Given the description of an element on the screen output the (x, y) to click on. 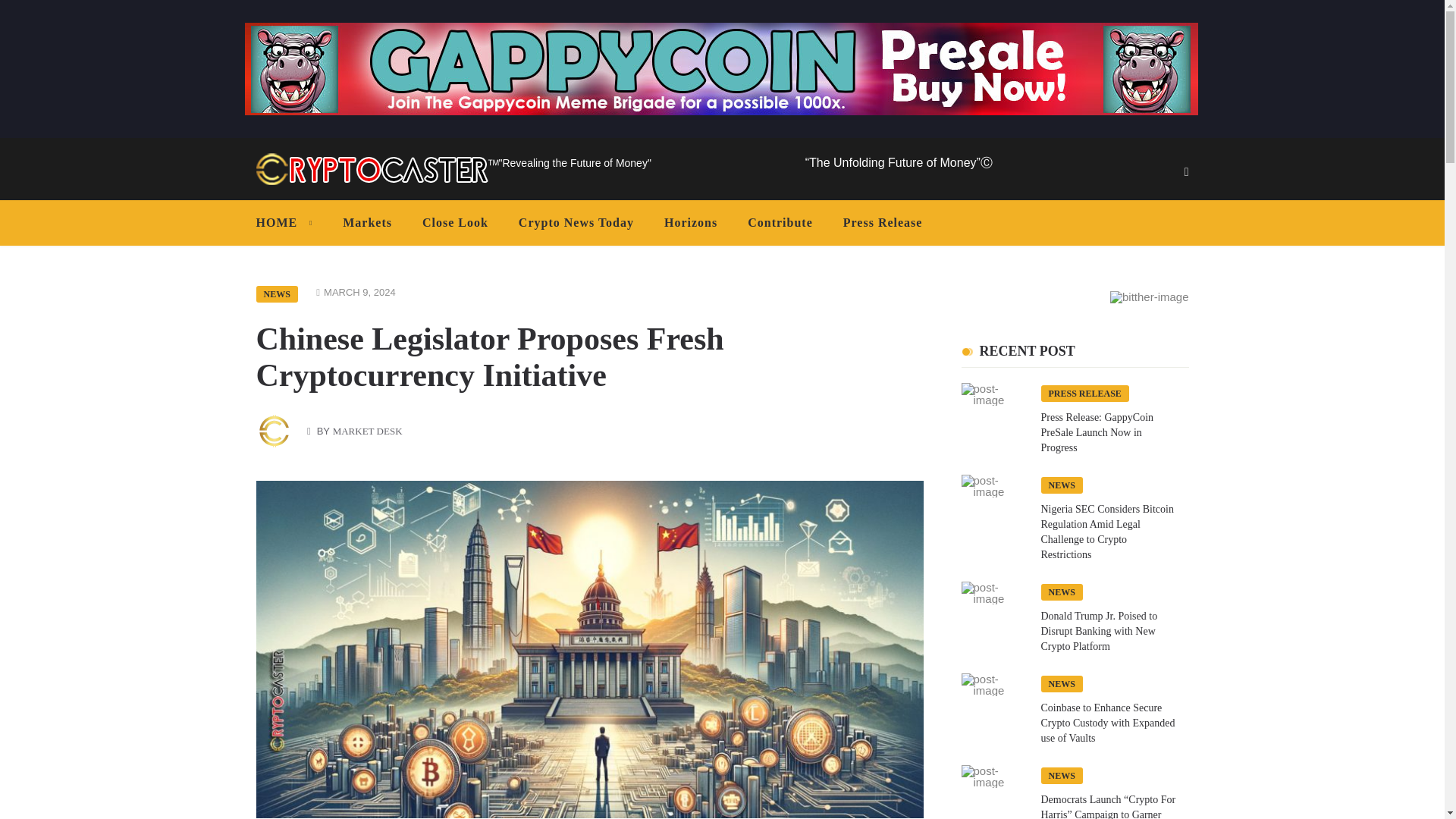
Markets (367, 222)
Horizons (690, 222)
Contribute (780, 222)
Press Release (882, 222)
NEWS (277, 293)
Close Look (455, 222)
MARKET DESK (368, 430)
Crypto News Today (576, 222)
MARCH 9, 2024 (359, 292)
HOME (288, 222)
